Given the description of an element on the screen output the (x, y) to click on. 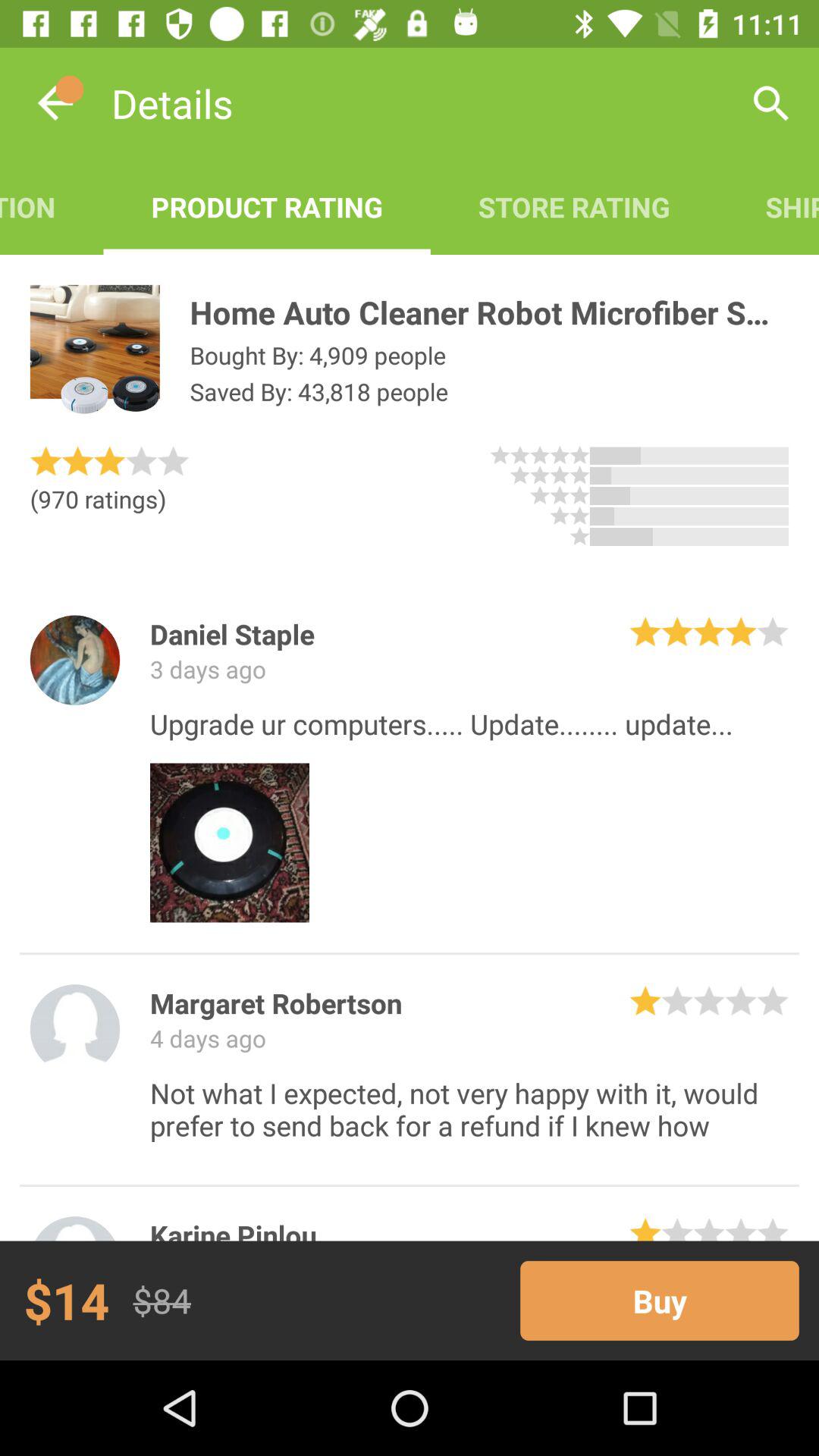
press icon to the right of $84 item (659, 1300)
